Given the description of an element on the screen output the (x, y) to click on. 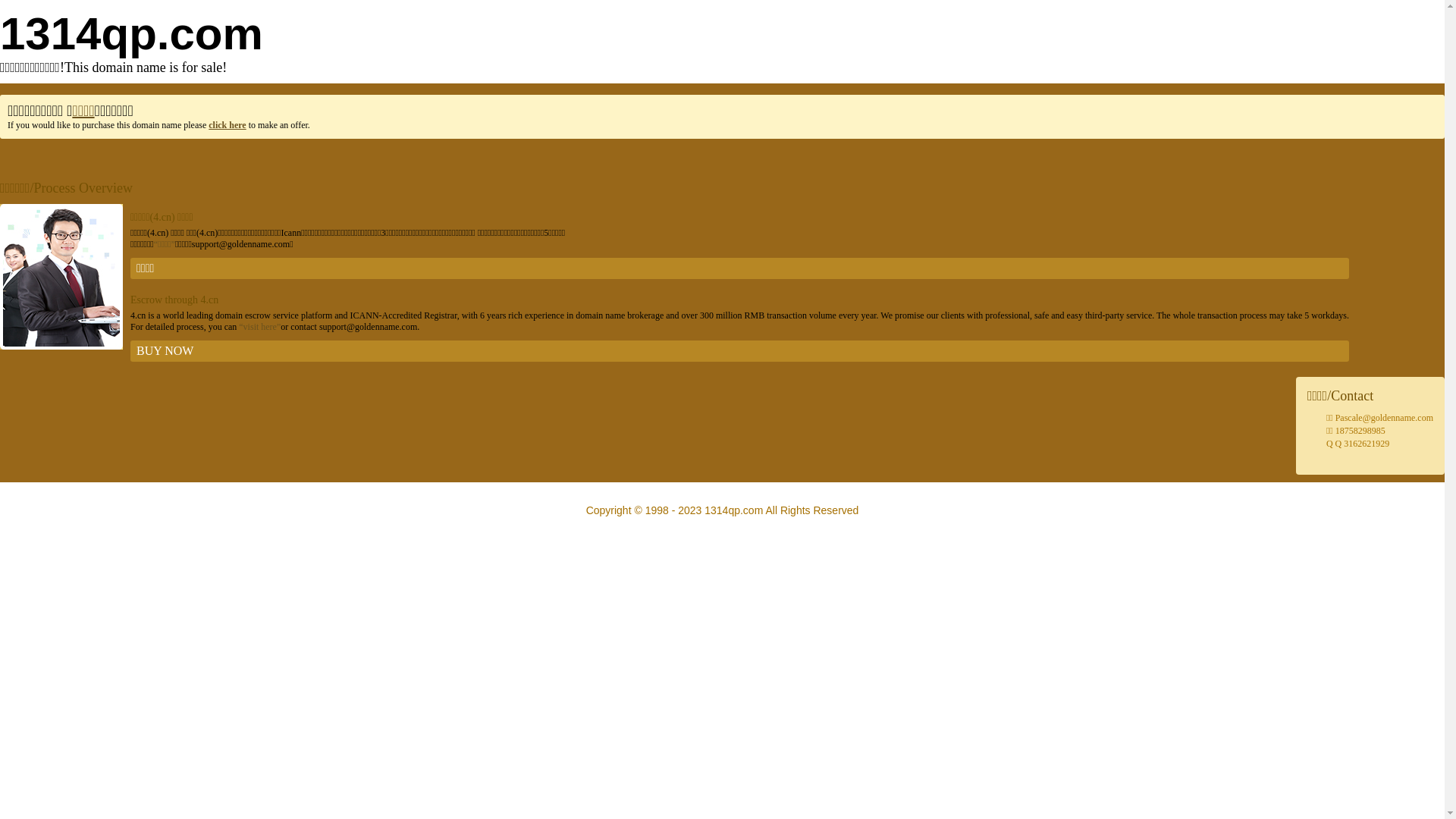
BUY NOW Element type: text (739, 350)
click here Element type: text (226, 124)
